Given the description of an element on the screen output the (x, y) to click on. 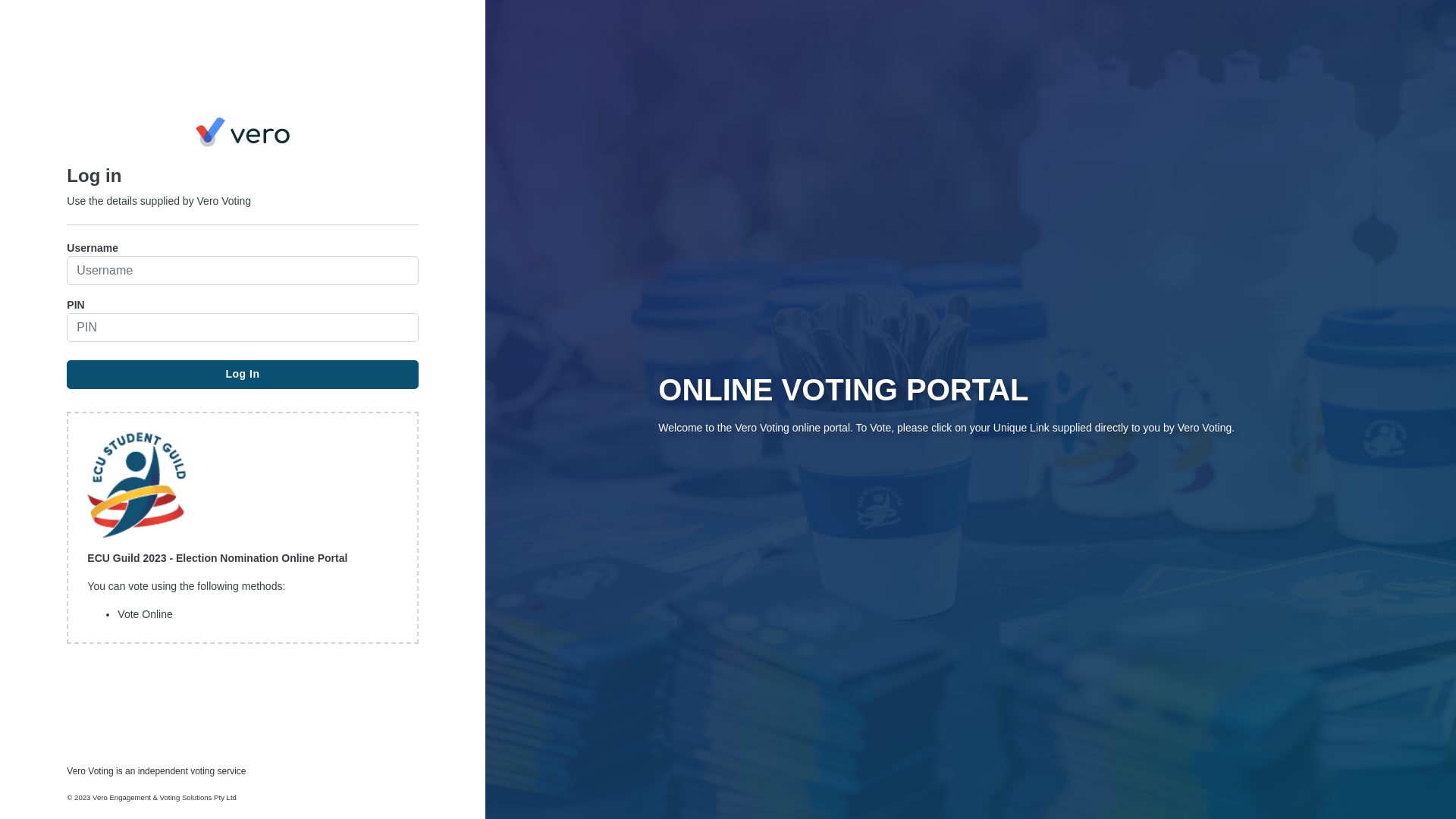
Log In Element type: text (241, 374)
